Given the description of an element on the screen output the (x, y) to click on. 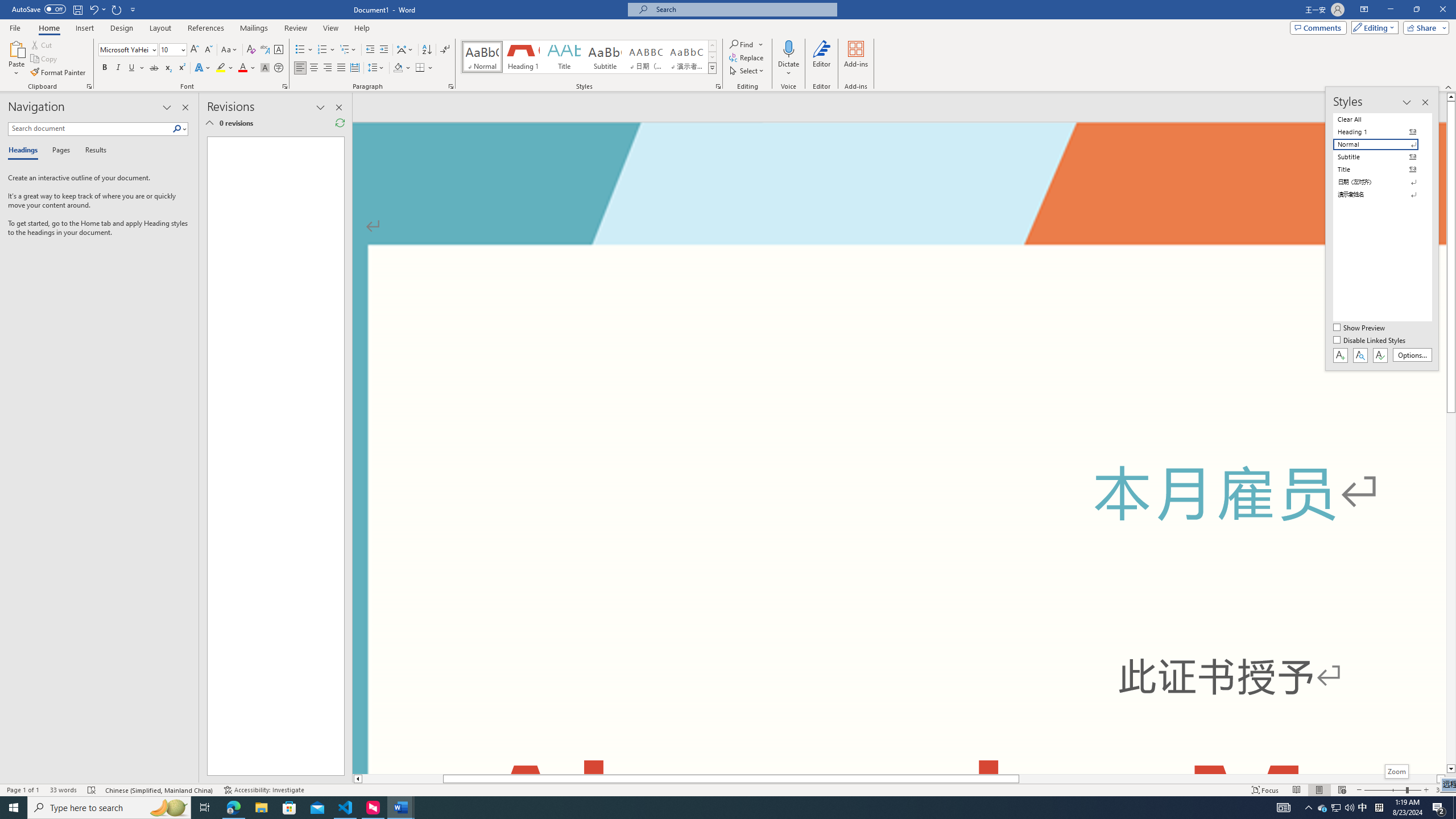
Spelling and Grammar Check Errors (91, 790)
Line down (1450, 768)
Show Preview (1360, 328)
